Given the description of an element on the screen output the (x, y) to click on. 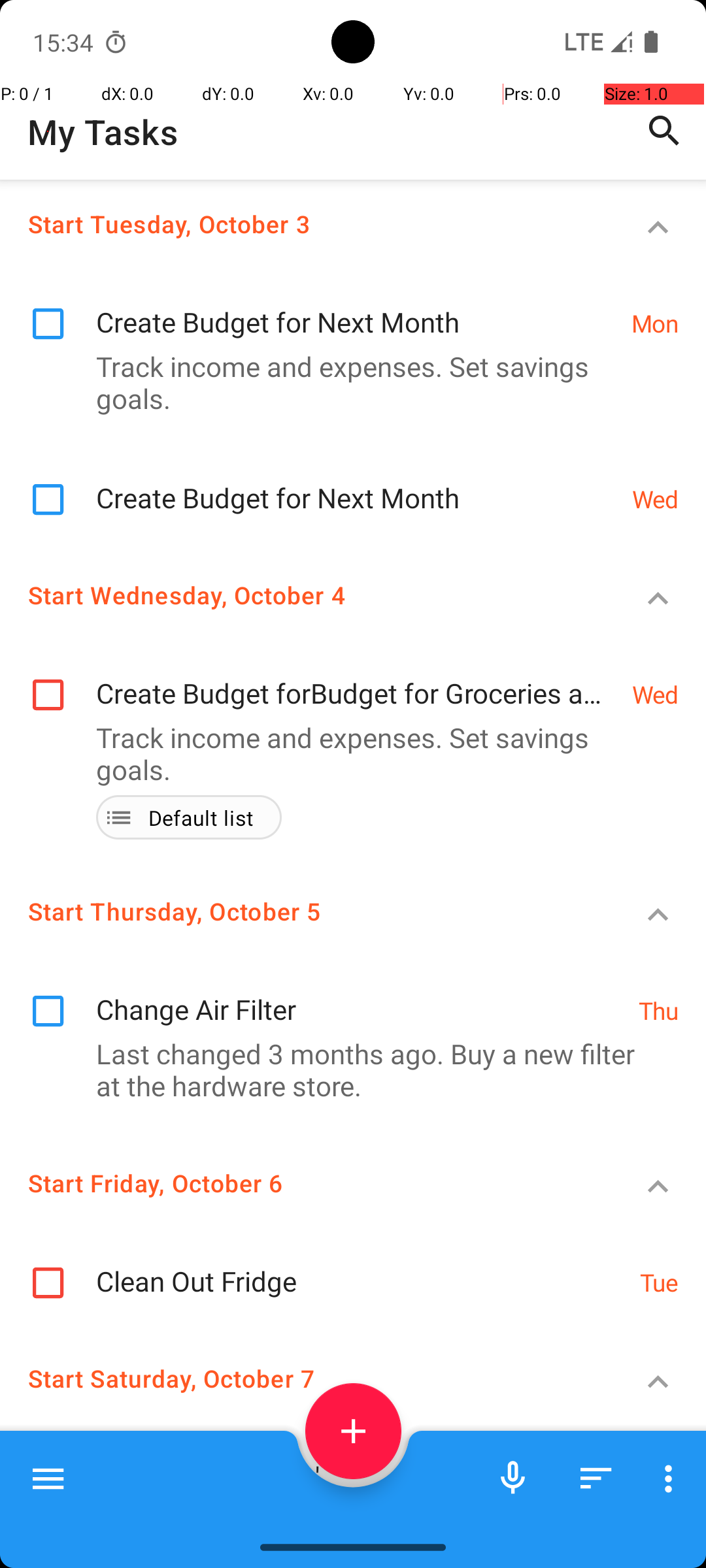
Start Tuesday, October 3 Element type: android.widget.TextView (304, 223)
Start Wednesday, October 4 Element type: android.widget.TextView (304, 594)
Start Thursday, October 5 Element type: android.widget.TextView (304, 910)
Start Friday, October 6 Element type: android.widget.TextView (304, 1182)
Start Saturday, October 7 Element type: android.widget.TextView (304, 1378)
Track income and expenses. Set savings goals. Element type: android.widget.TextView (346, 381)
Create Budget forBudget for Groceries and Utilities Next Month Element type: android.widget.TextView (357, 678)
Last changed 3 months ago. Buy a new filter at the hardware store. Element type: android.widget.TextView (346, 1069)
